Given the description of an element on the screen output the (x, y) to click on. 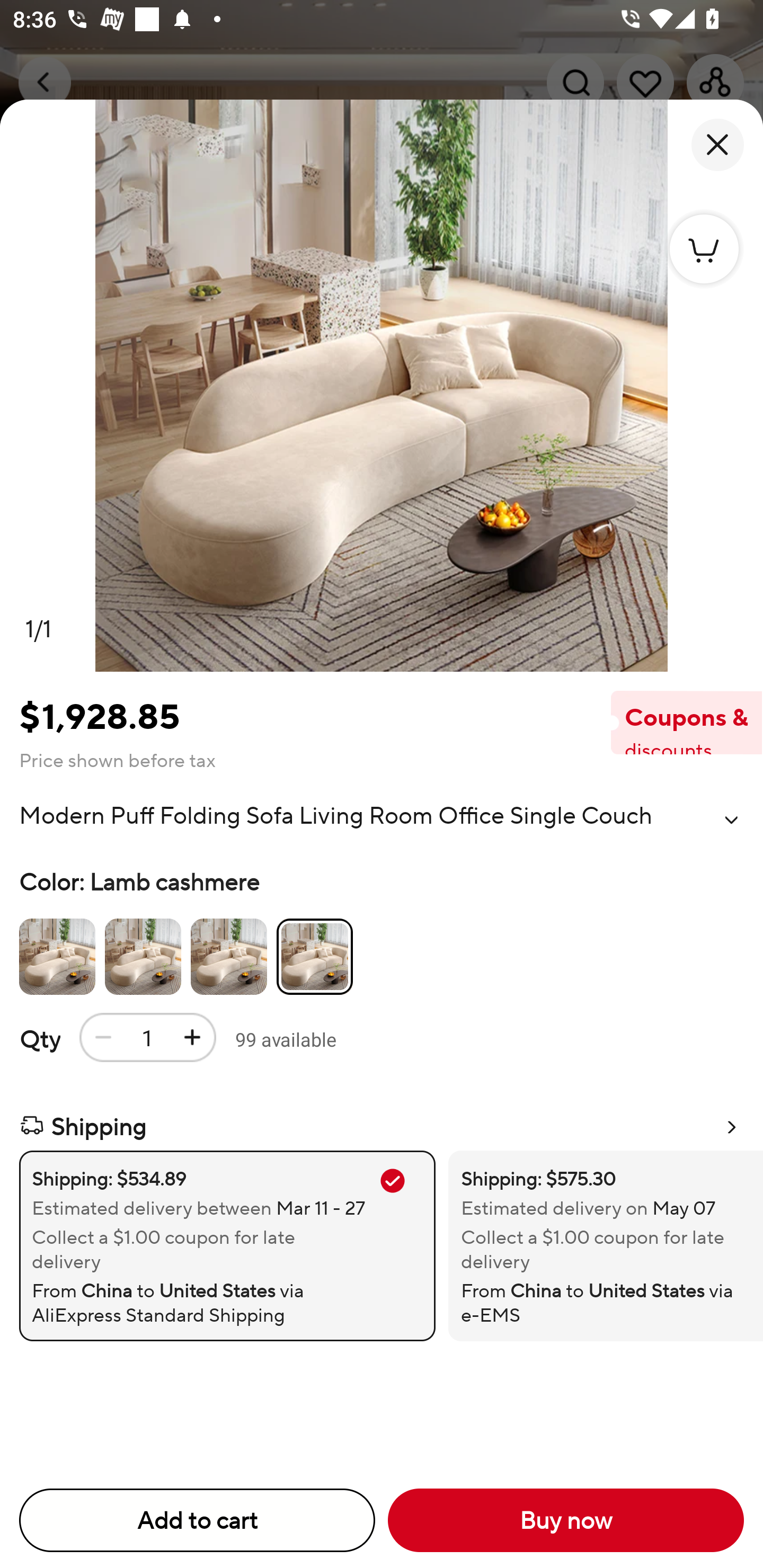
close  (717, 144)
 (730, 819)
Add to cart (197, 1520)
Buy now (565, 1520)
